Given the description of an element on the screen output the (x, y) to click on. 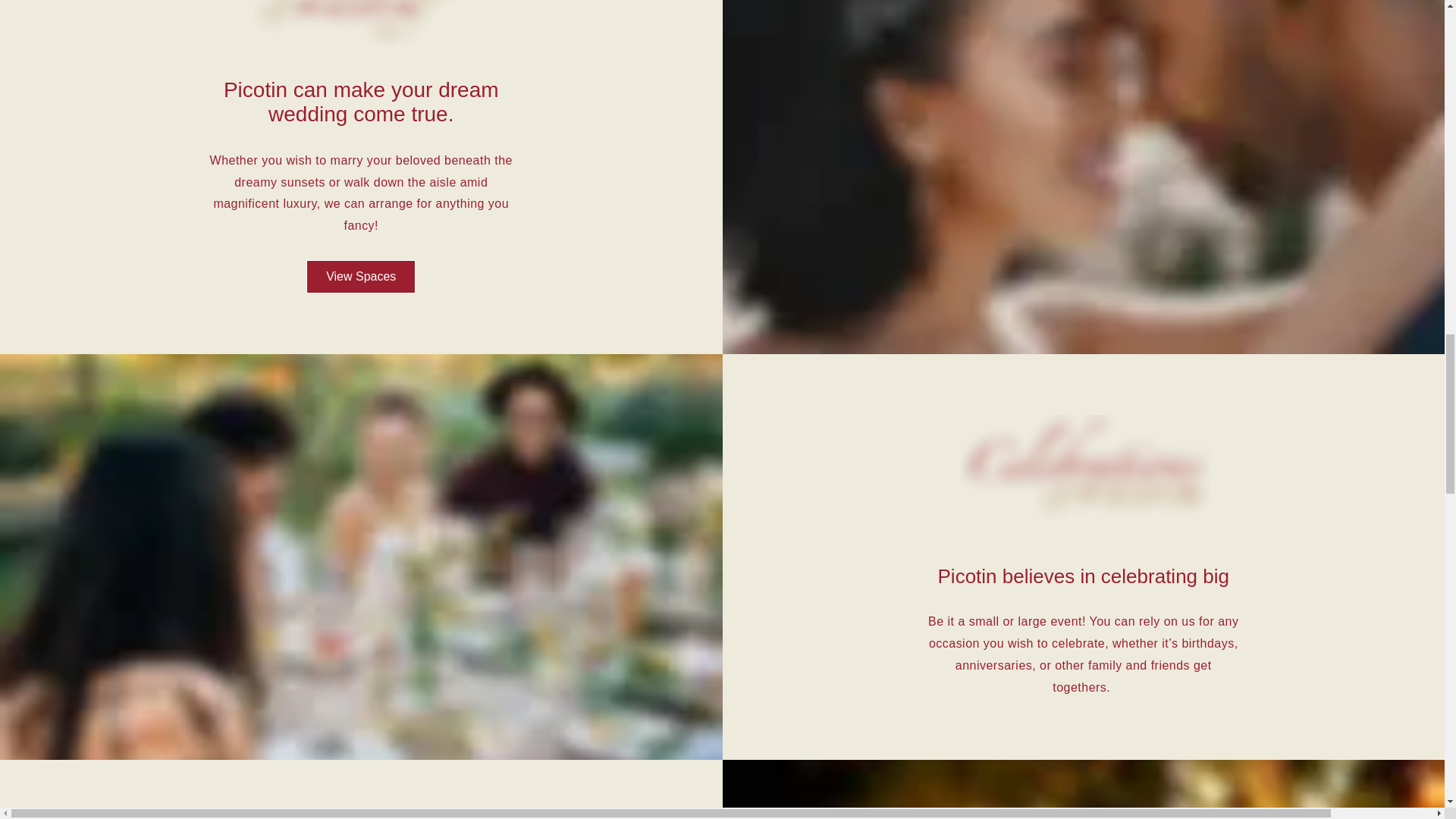
View Spaces (359, 276)
